Given the description of an element on the screen output the (x, y) to click on. 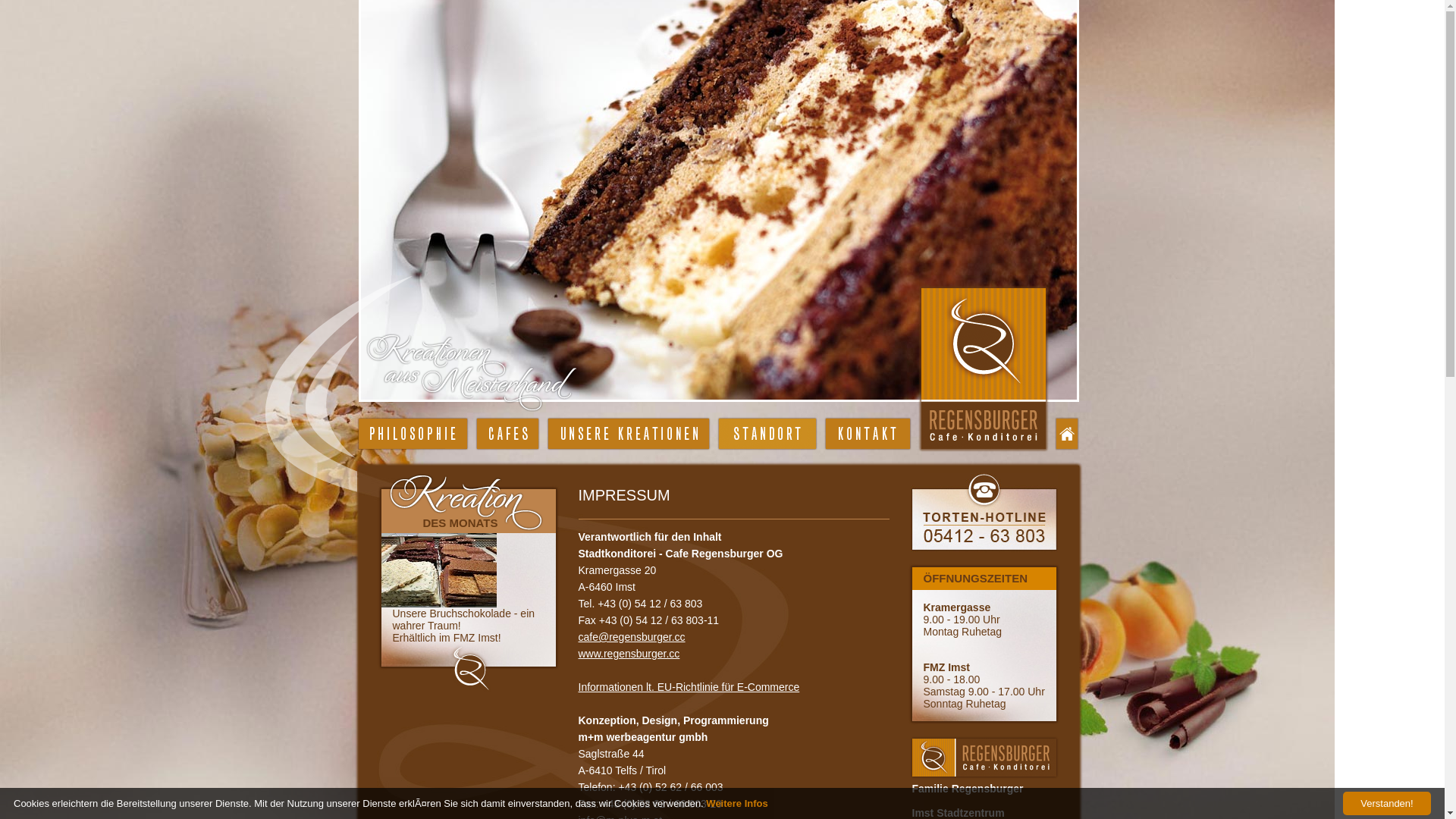
www.regensburger.cc Element type: text (628, 653)
cafe@regensburger.cc Element type: text (630, 636)
CAFES Element type: text (506, 433)
PHILOSOPHIE Element type: text (411, 433)
UNSERE KREATIONEN Element type: text (627, 433)
KONTAKT Element type: text (867, 433)
STANDORTE Element type: text (766, 433)
Weitere Infos Element type: text (736, 803)
